Given the description of an element on the screen output the (x, y) to click on. 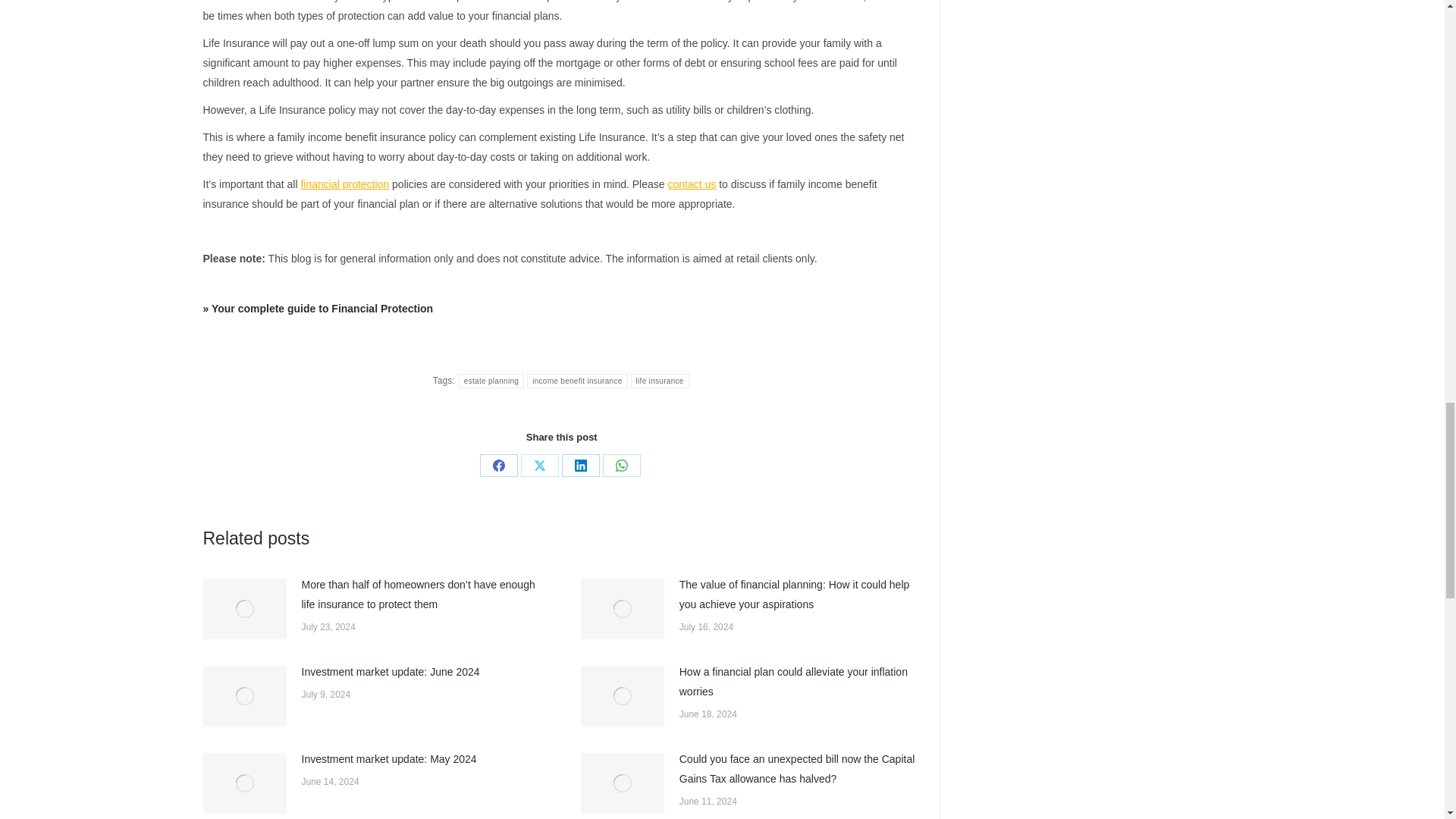
LinkedIn (580, 465)
X (540, 465)
Facebook (499, 465)
WhatsApp (621, 465)
